Given the description of an element on the screen output the (x, y) to click on. 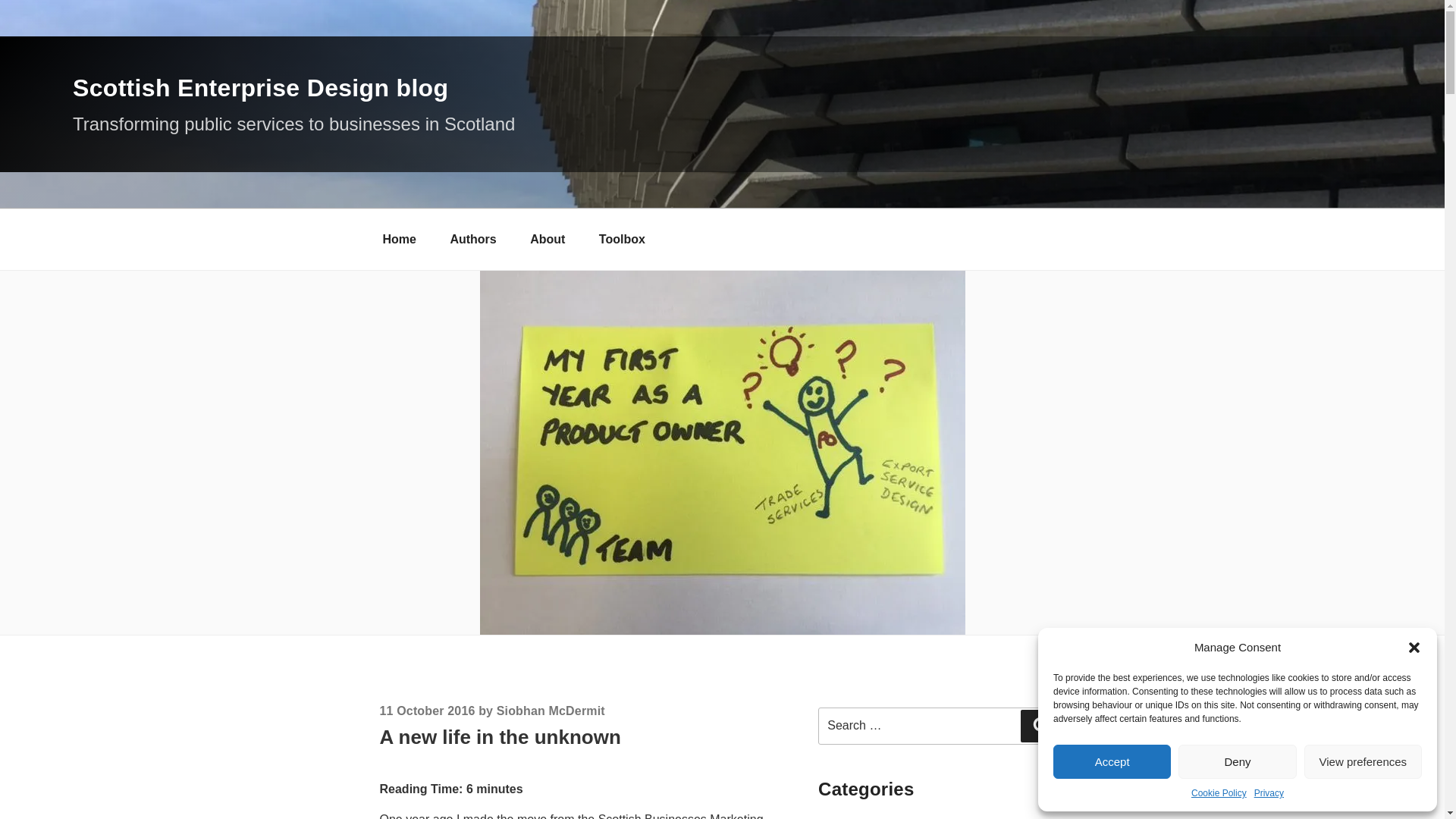
Scottish Enterprise Design blog (260, 87)
Home (398, 239)
Privacy (1268, 793)
Accept (1111, 761)
Deny (1236, 761)
View preferences (1363, 761)
Toolbox (622, 239)
Cookie Policy (1218, 793)
Siobhan McDermit (550, 710)
About (547, 239)
Authors (472, 239)
